Given the description of an element on the screen output the (x, y) to click on. 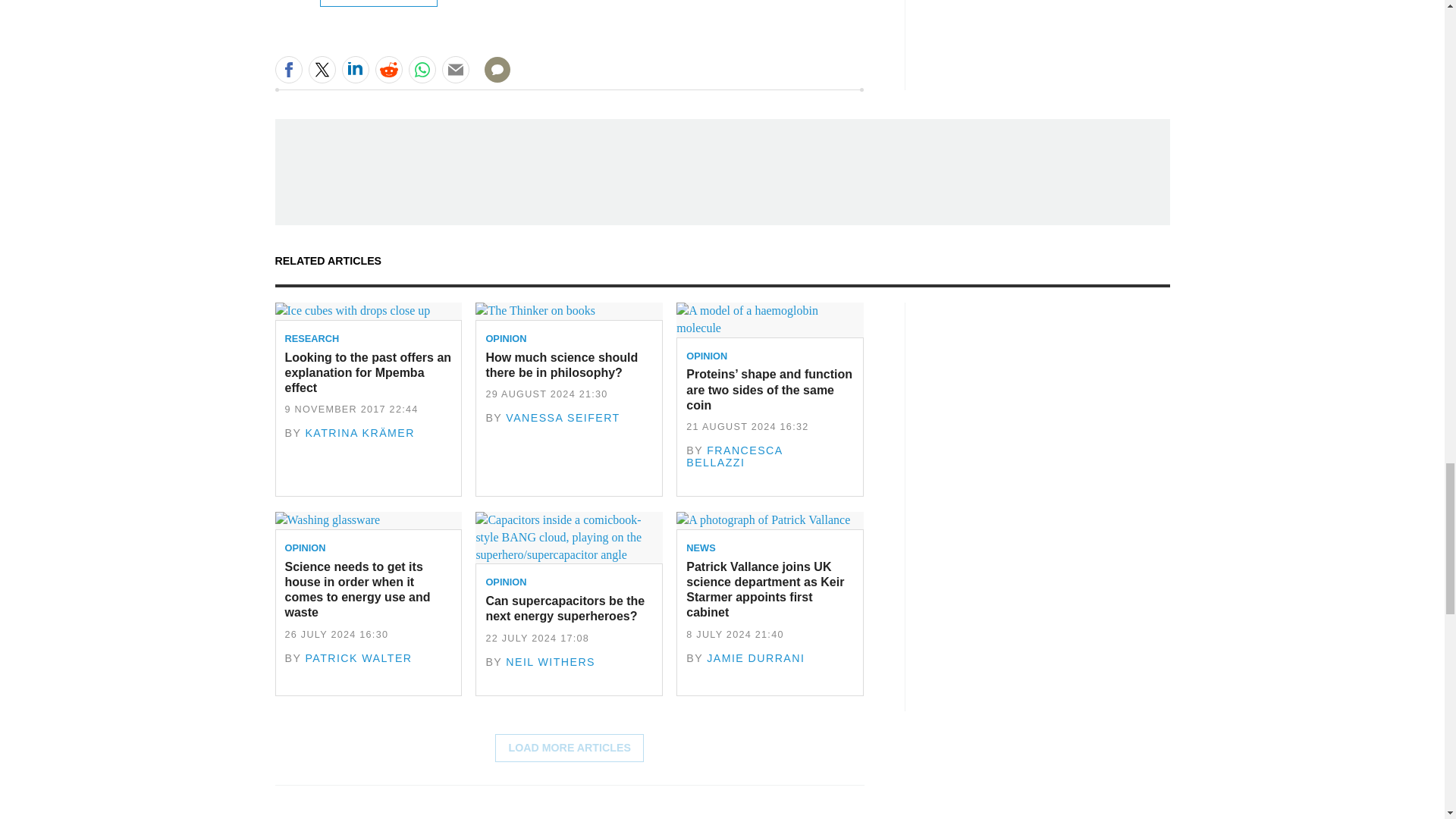
Share this on Reddit (387, 69)
Share this by email (454, 69)
NO COMMENTS (492, 78)
Share this on WhatsApp (421, 69)
Share this on LinkedIn (354, 69)
Share this on Facebook (288, 69)
